Given the description of an element on the screen output the (x, y) to click on. 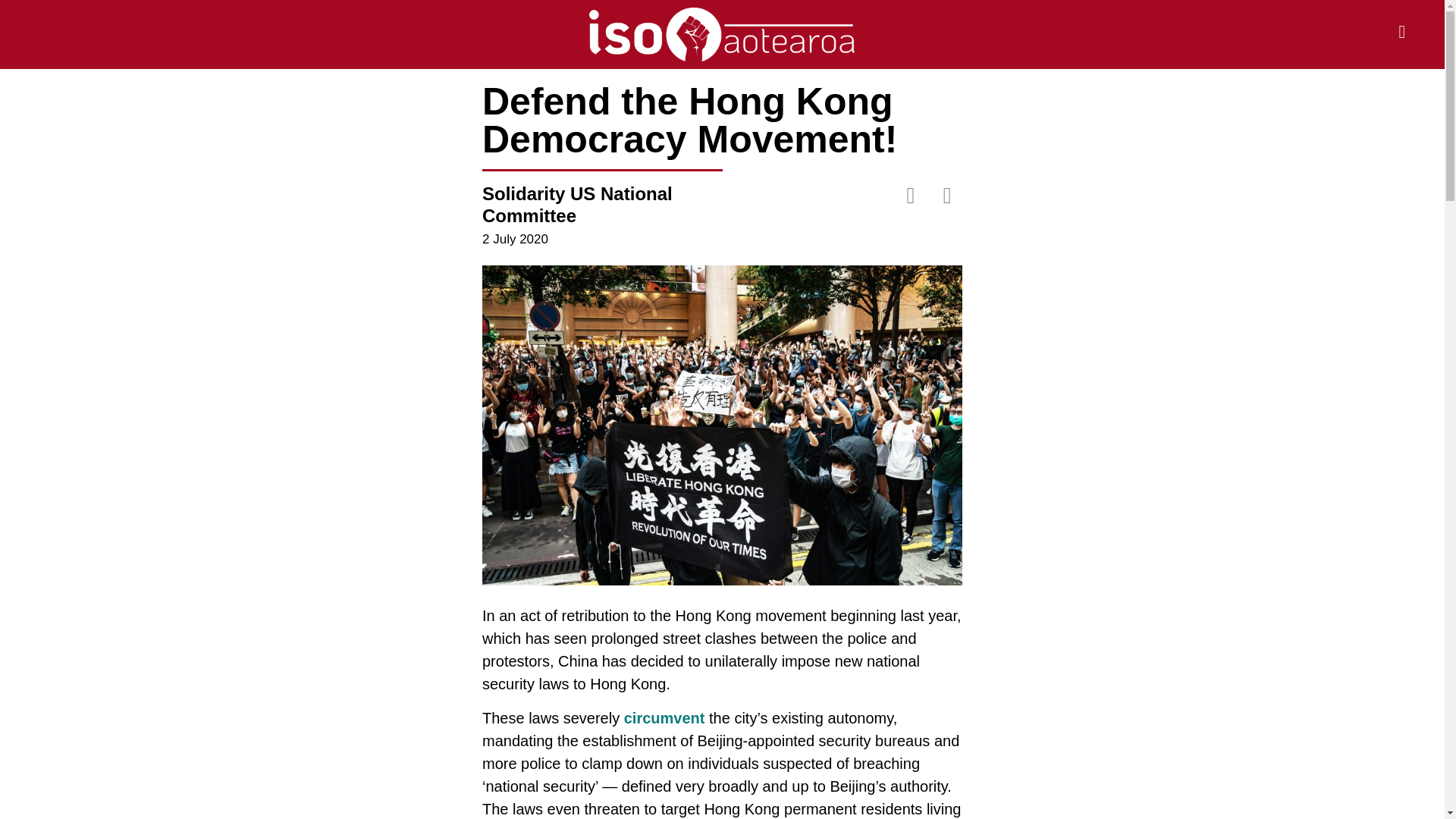
circumvent (664, 718)
